Given the description of an element on the screen output the (x, y) to click on. 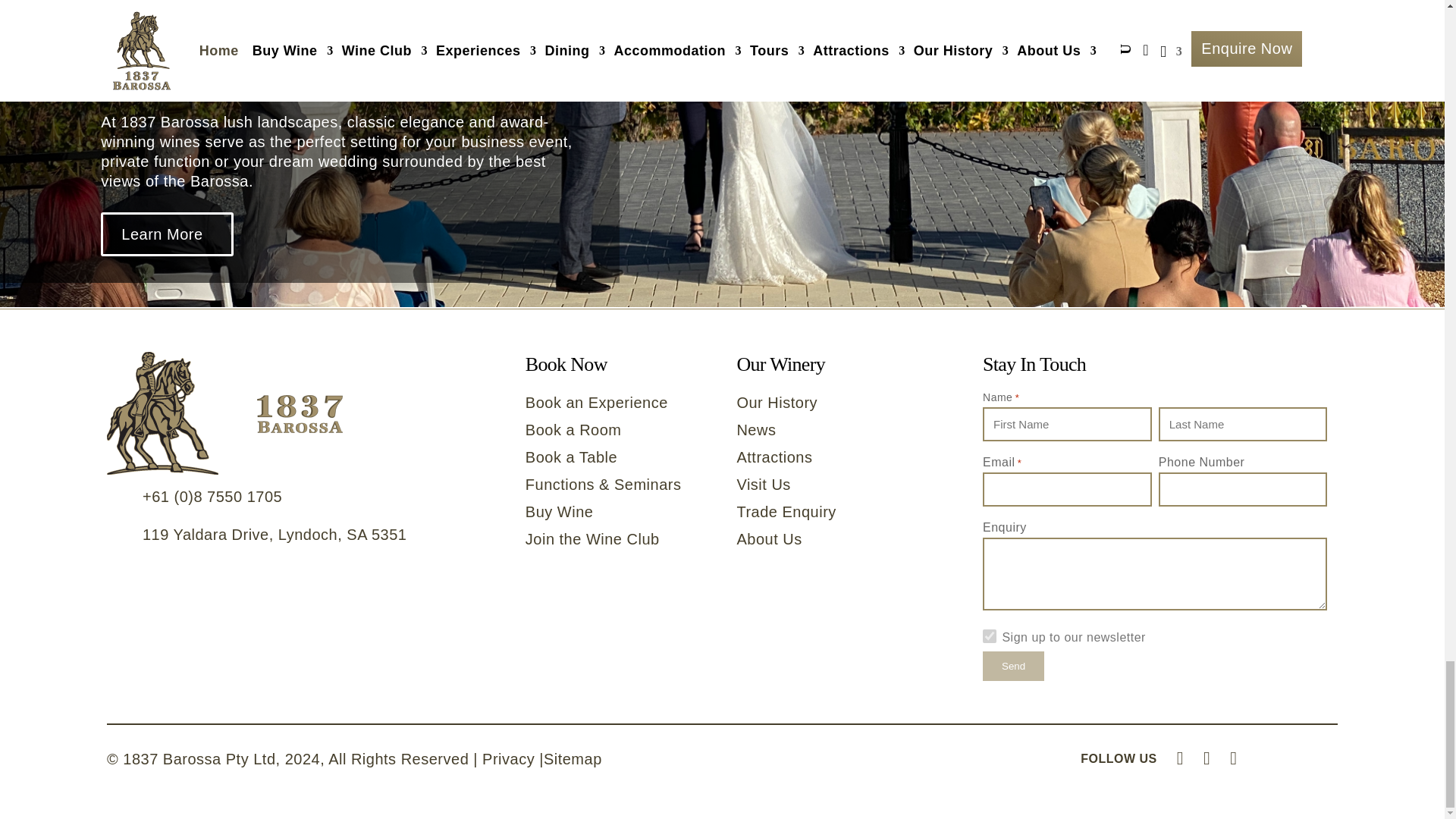
Sign up to our newsletter (988, 635)
Send (1012, 665)
